Given the description of an element on the screen output the (x, y) to click on. 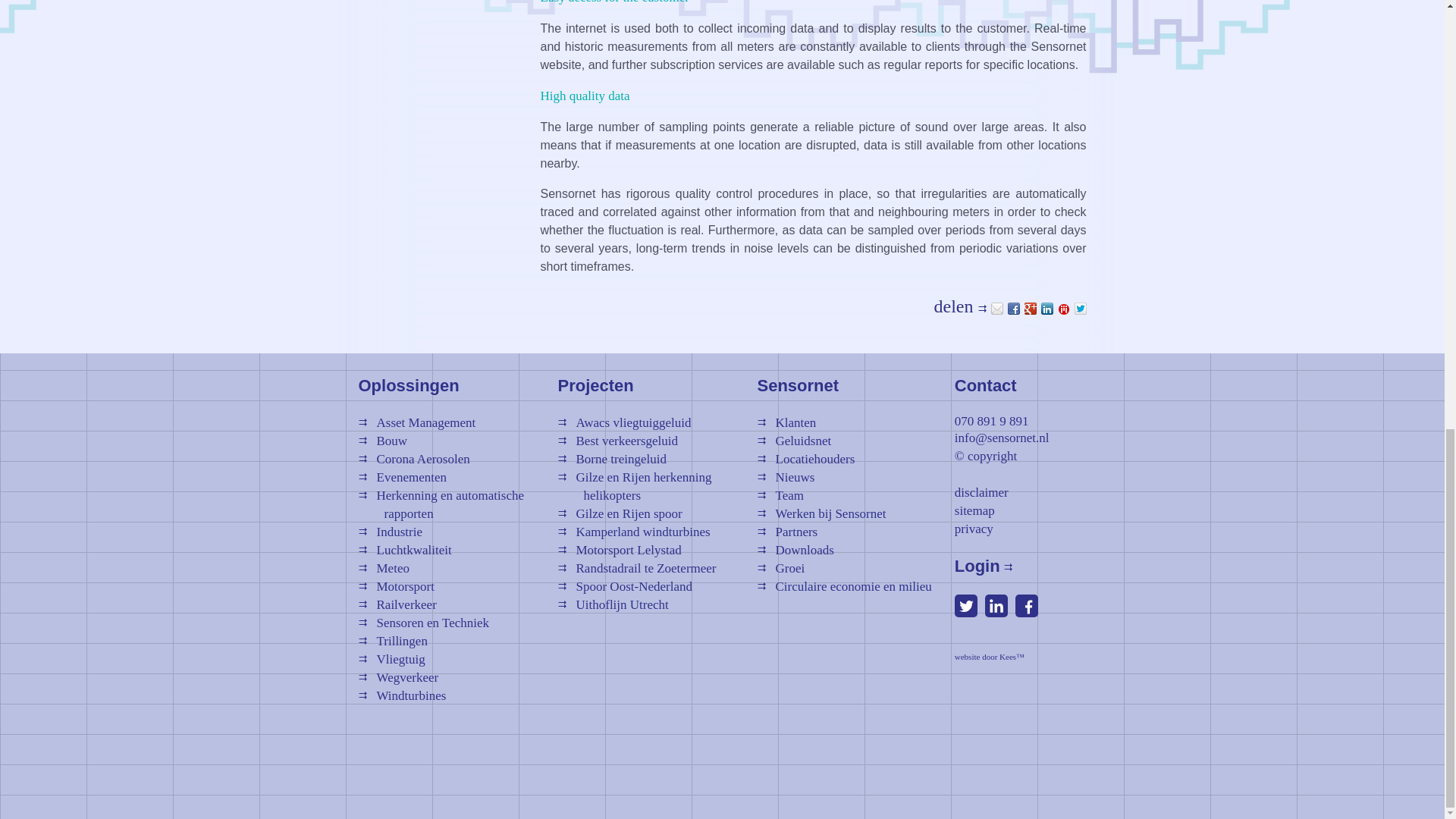
Motorsport (395, 586)
Meteo (383, 568)
Vliegtuig (391, 658)
Evenementen (402, 477)
Herkenning en automatische rapporten (441, 504)
Windturbines (401, 695)
Awacs vliegtuiggeluid (624, 422)
Trillingen (392, 640)
Luchtkwaliteit (404, 549)
Bouw (382, 440)
